Given the description of an element on the screen output the (x, y) to click on. 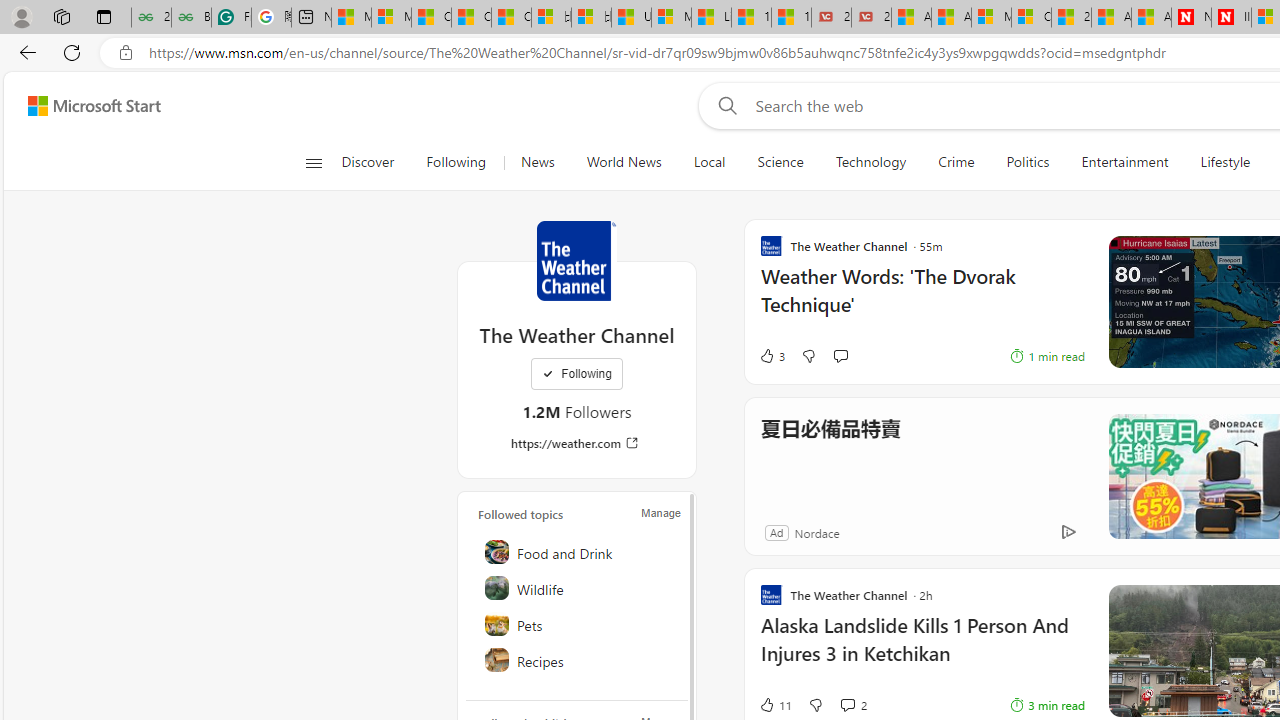
Recipes (578, 659)
Wildlife (578, 587)
Lifestyle - MSN (711, 17)
